Given the description of an element on the screen output the (x, y) to click on. 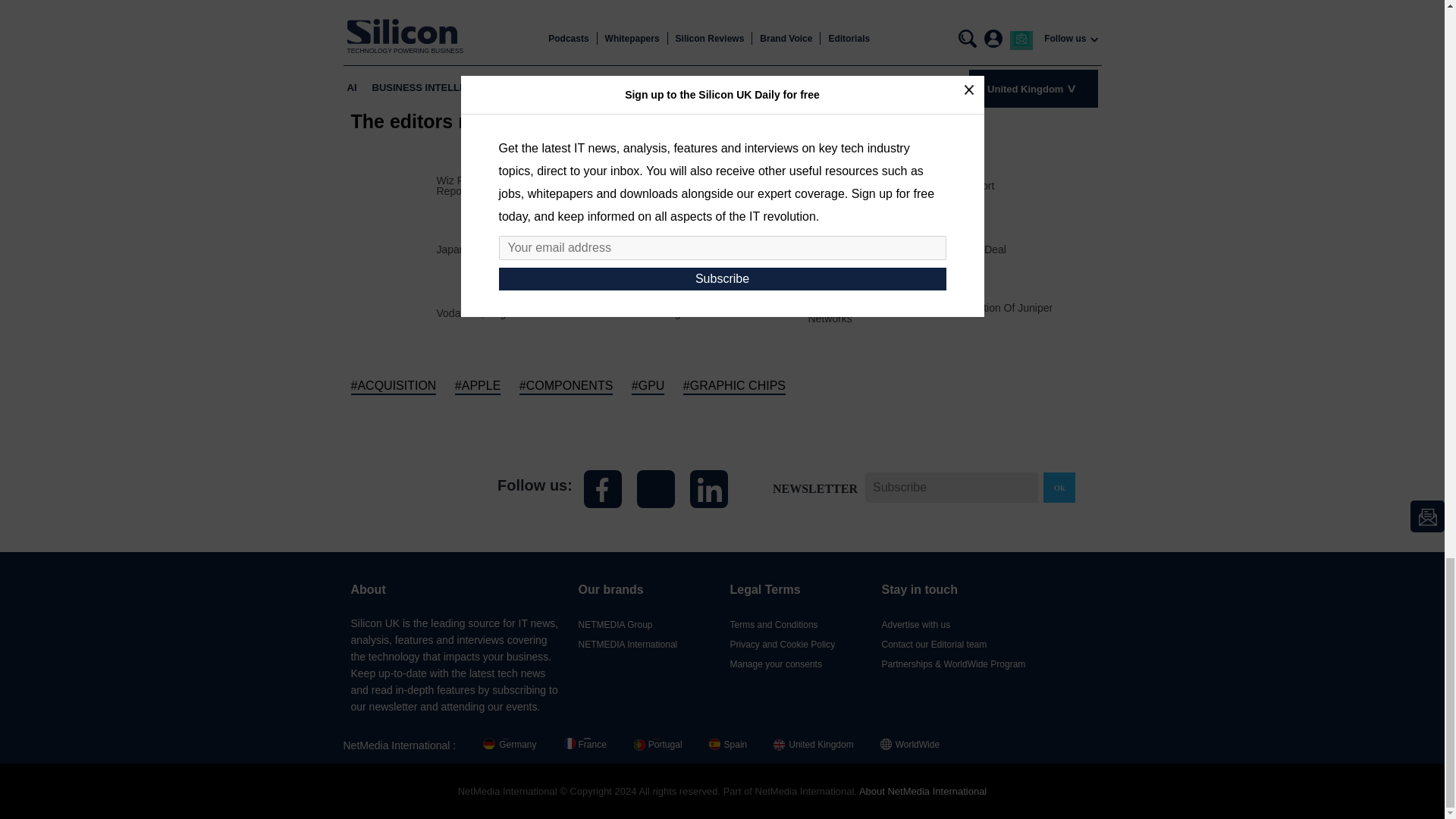
Vodafone, Virgin Media O2 Extend Network Sharing Deal (571, 312)
Alphabet Walks Away From HubSpot Deal (907, 248)
Silicon UK (408, 489)
